Given the description of an element on the screen output the (x, y) to click on. 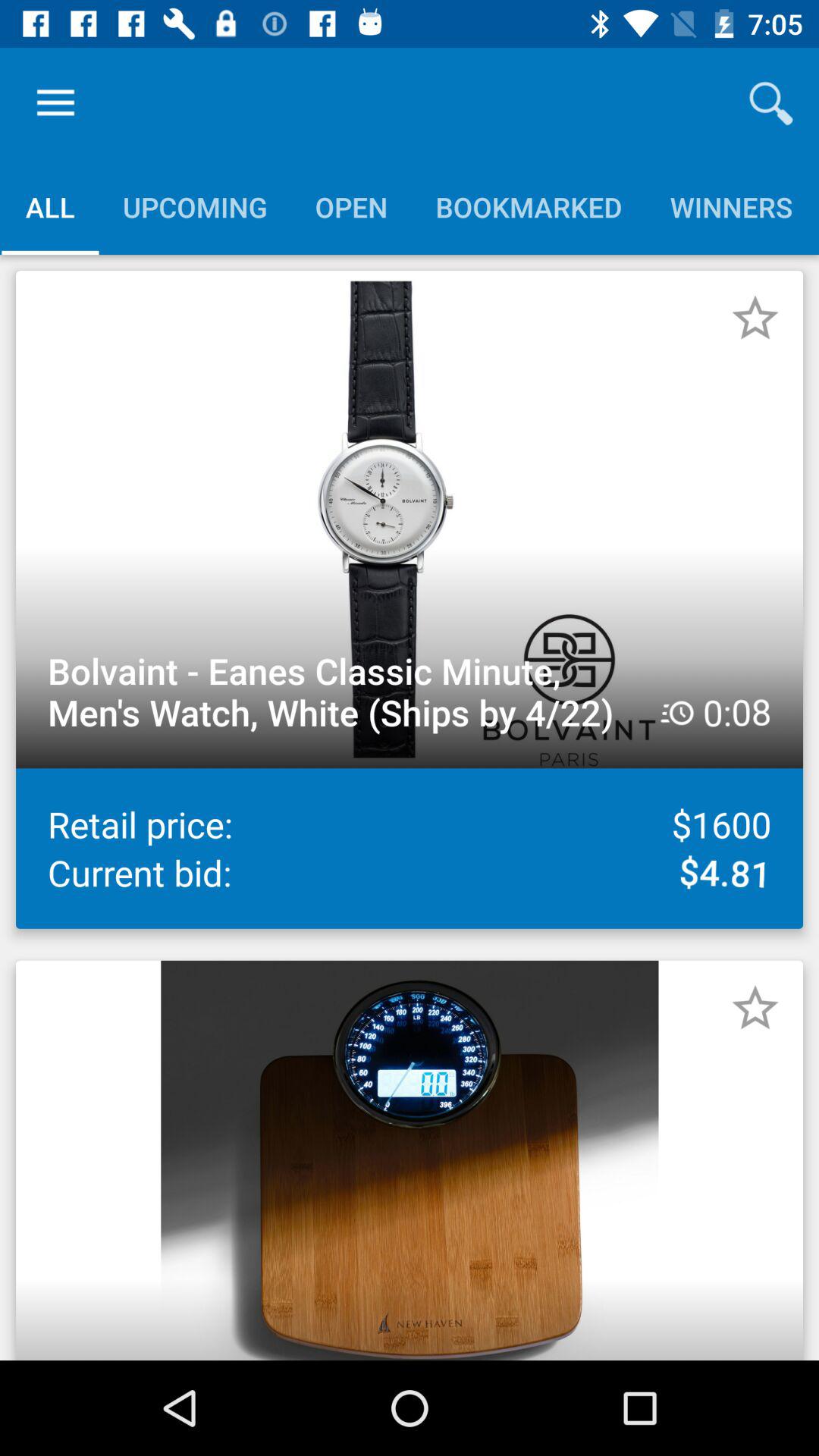
add to favorites (755, 318)
